Given the description of an element on the screen output the (x, y) to click on. 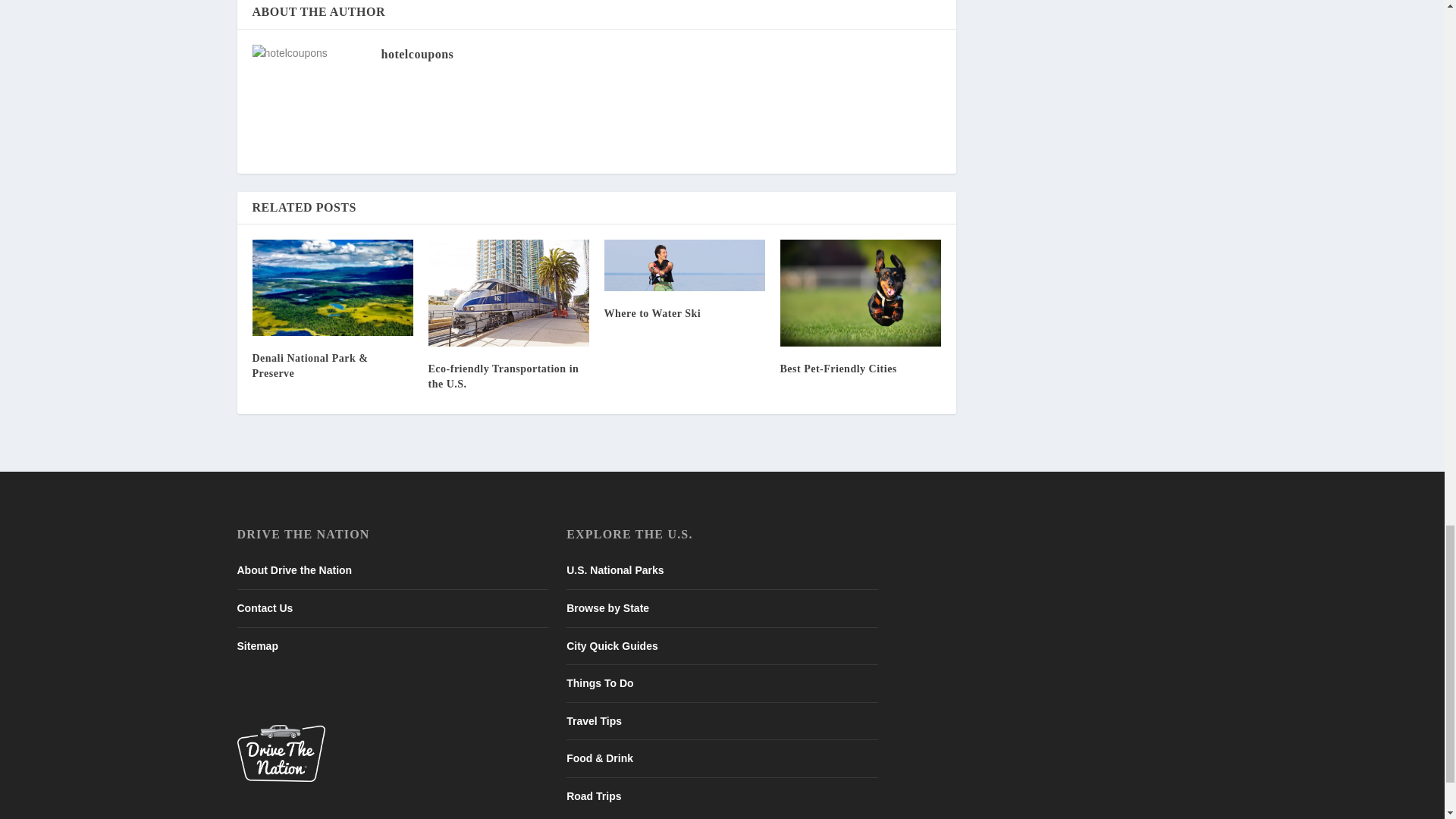
Eco-friendly Transportation in the U.S. (508, 292)
Best Pet-Friendly Cities (859, 292)
Where to Water Ski (684, 265)
View all posts by hotelcoupons (416, 53)
